Given the description of an element on the screen output the (x, y) to click on. 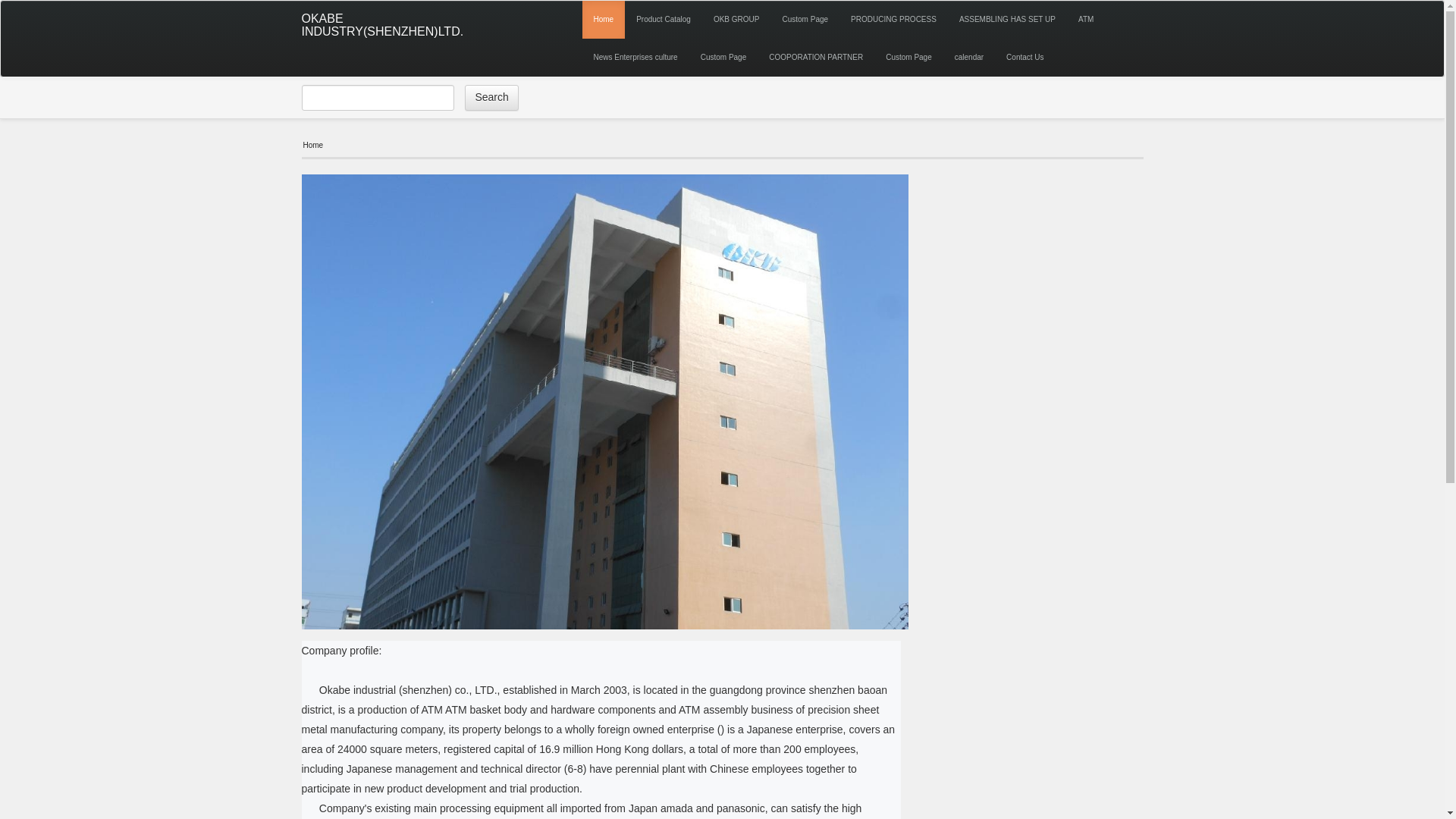
calendar (968, 57)
Custom Page (909, 57)
Contact Us (1024, 57)
ASSEMBLING HAS SET UP (1007, 19)
Contact Us (1024, 57)
COOPORATION PARTNER (816, 57)
Home (604, 19)
Search (491, 97)
Product Catalog (662, 19)
Home (604, 19)
